Given the description of an element on the screen output the (x, y) to click on. 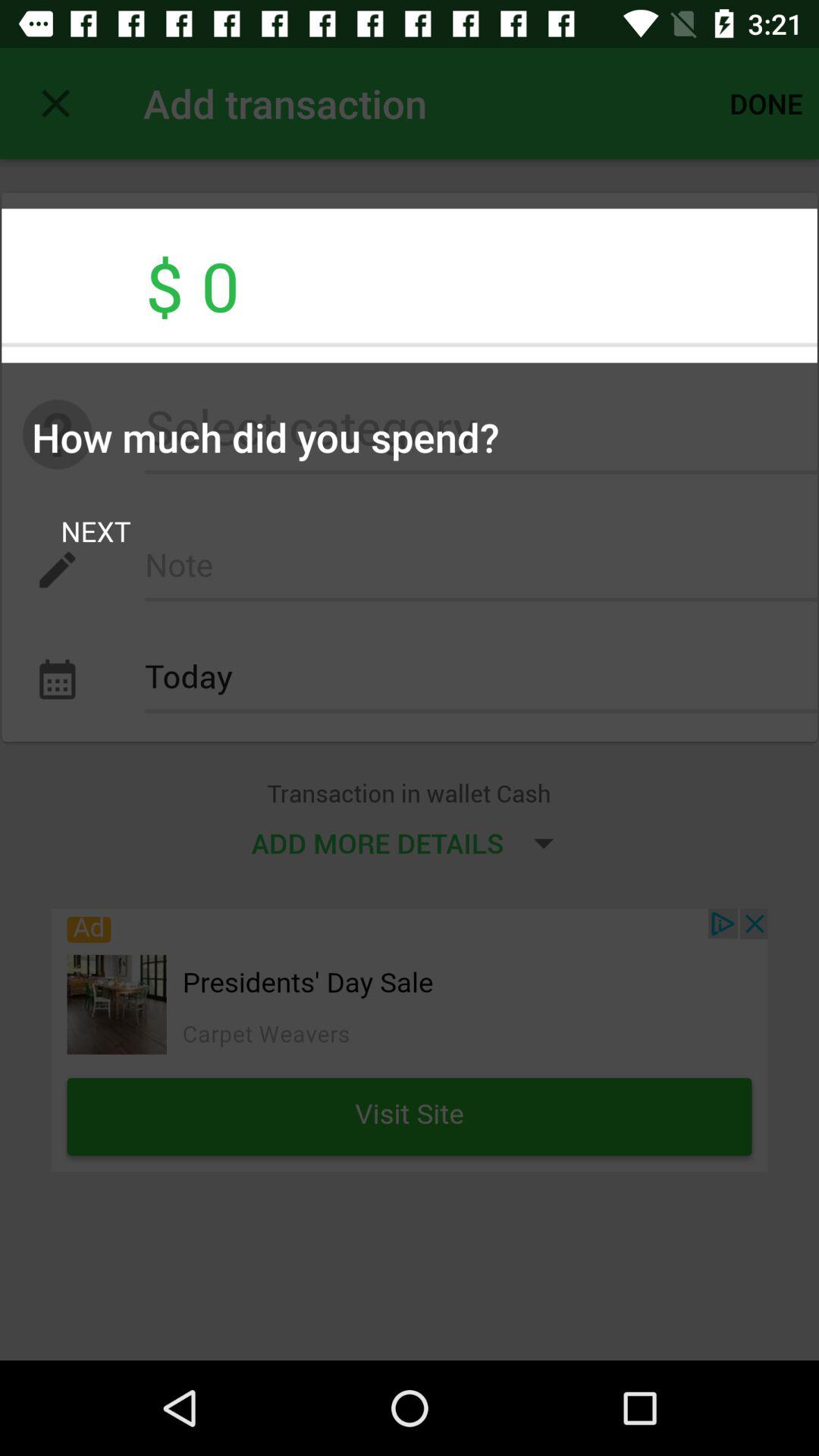
click item above $ 0 (55, 103)
